Given the description of an element on the screen output the (x, y) to click on. 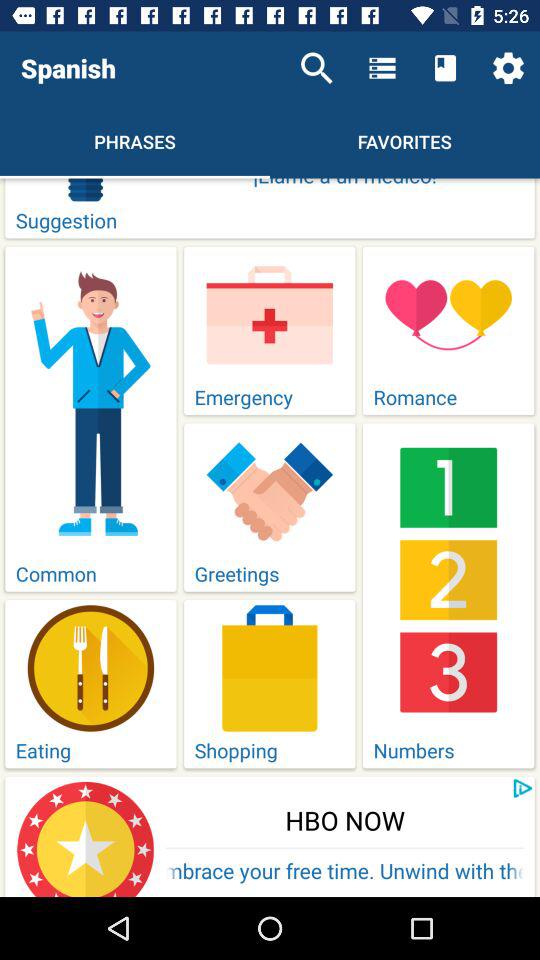
launch icon to the right of spanish item (316, 67)
